Given the description of an element on the screen output the (x, y) to click on. 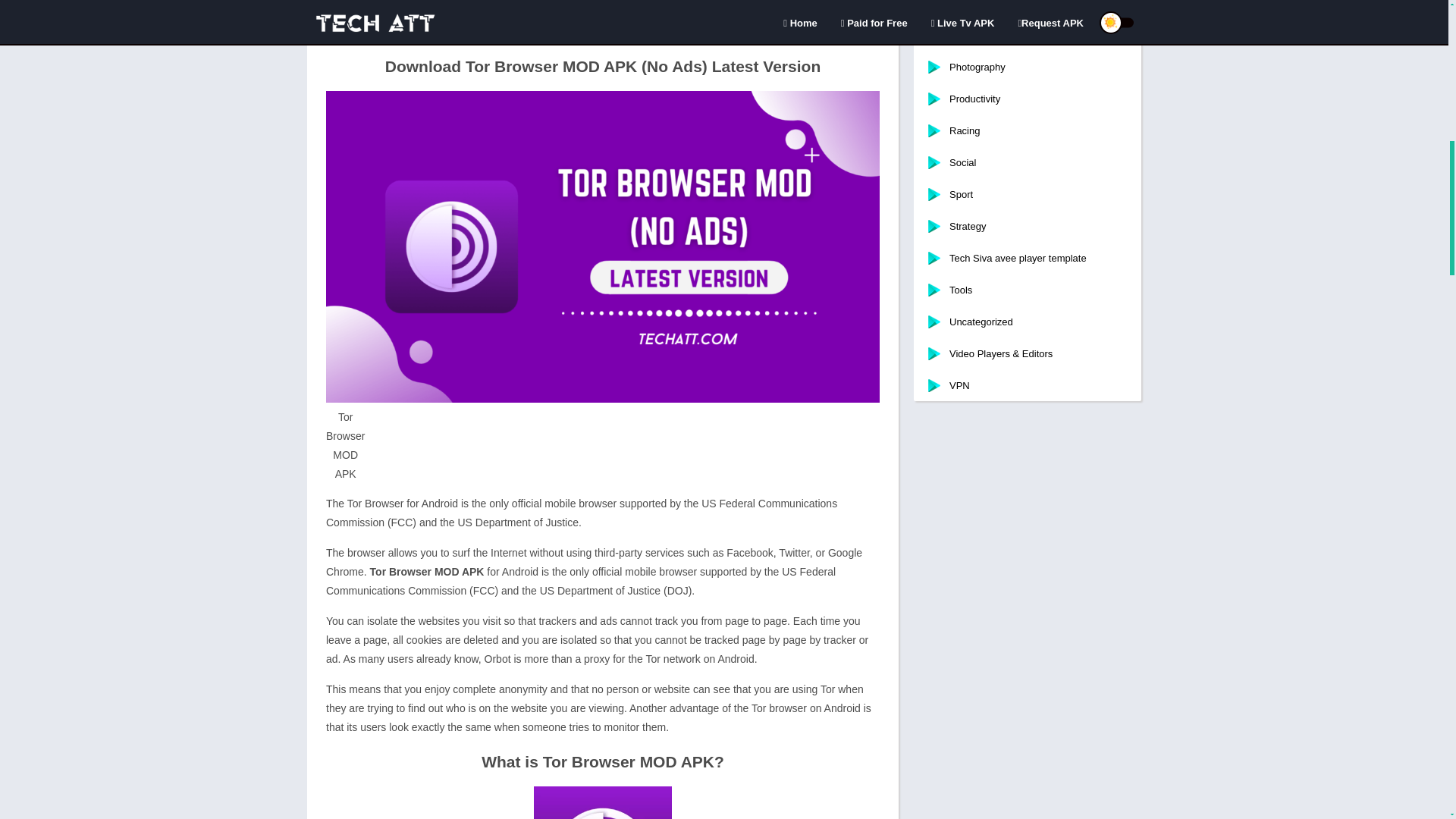
Dark Side Of Tor Browser MOD APK (421, 9)
Is Tor Browser MOD APK Legal In India? (430, 25)
Dark Side Of Tor Browser MOD APK (421, 9)
Is Tor Browser MOD APK Legal In India? (430, 25)
